Given the description of an element on the screen output the (x, y) to click on. 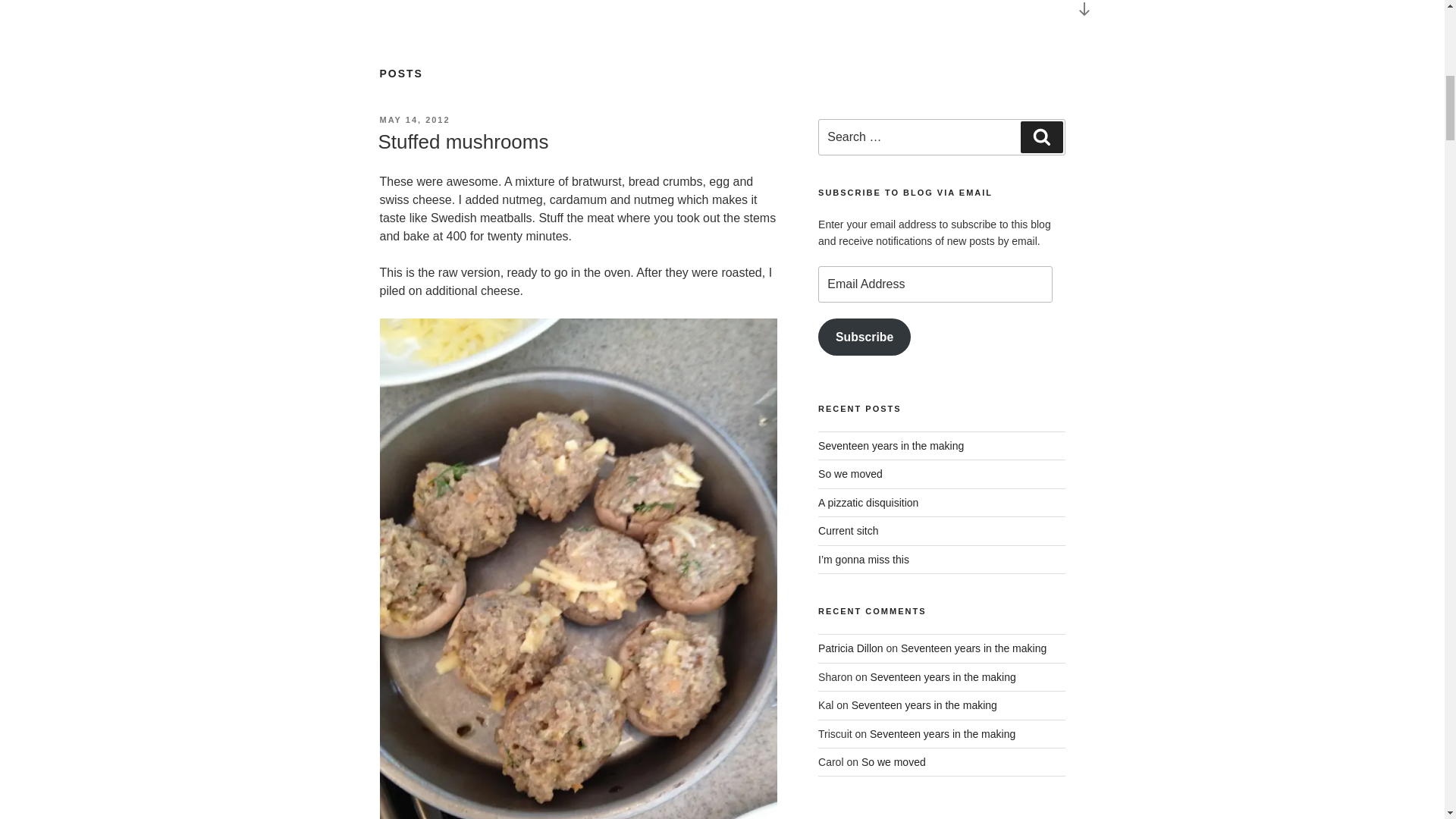
MAY 14, 2012 (413, 119)
Scroll down to content (1082, 13)
Stuffed mushrooms (462, 141)
Search (1041, 137)
Scroll down to content (1082, 13)
Subscribe (864, 336)
